Given the description of an element on the screen output the (x, y) to click on. 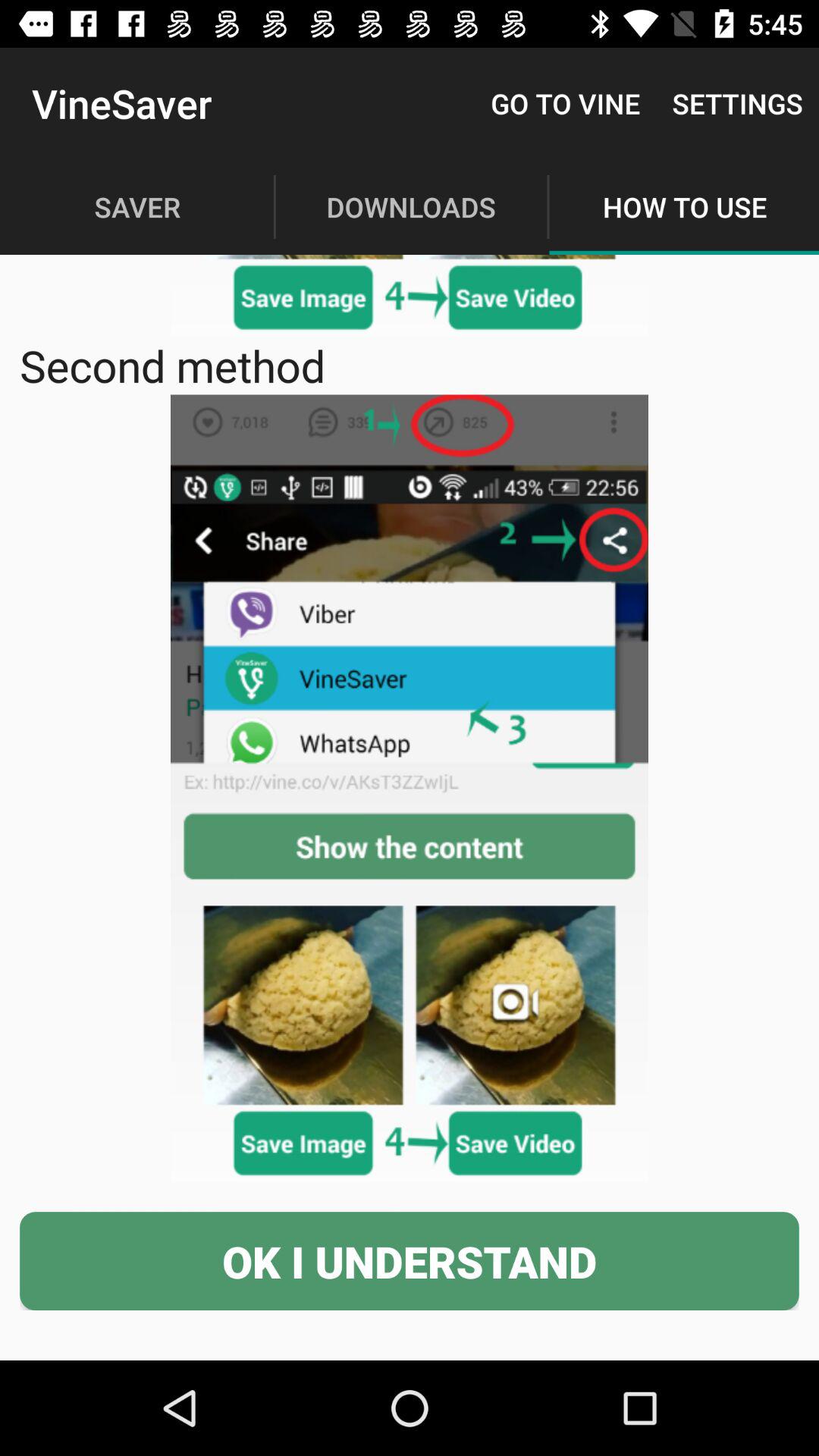
launch icon above how to use icon (737, 103)
